Given the description of an element on the screen output the (x, y) to click on. 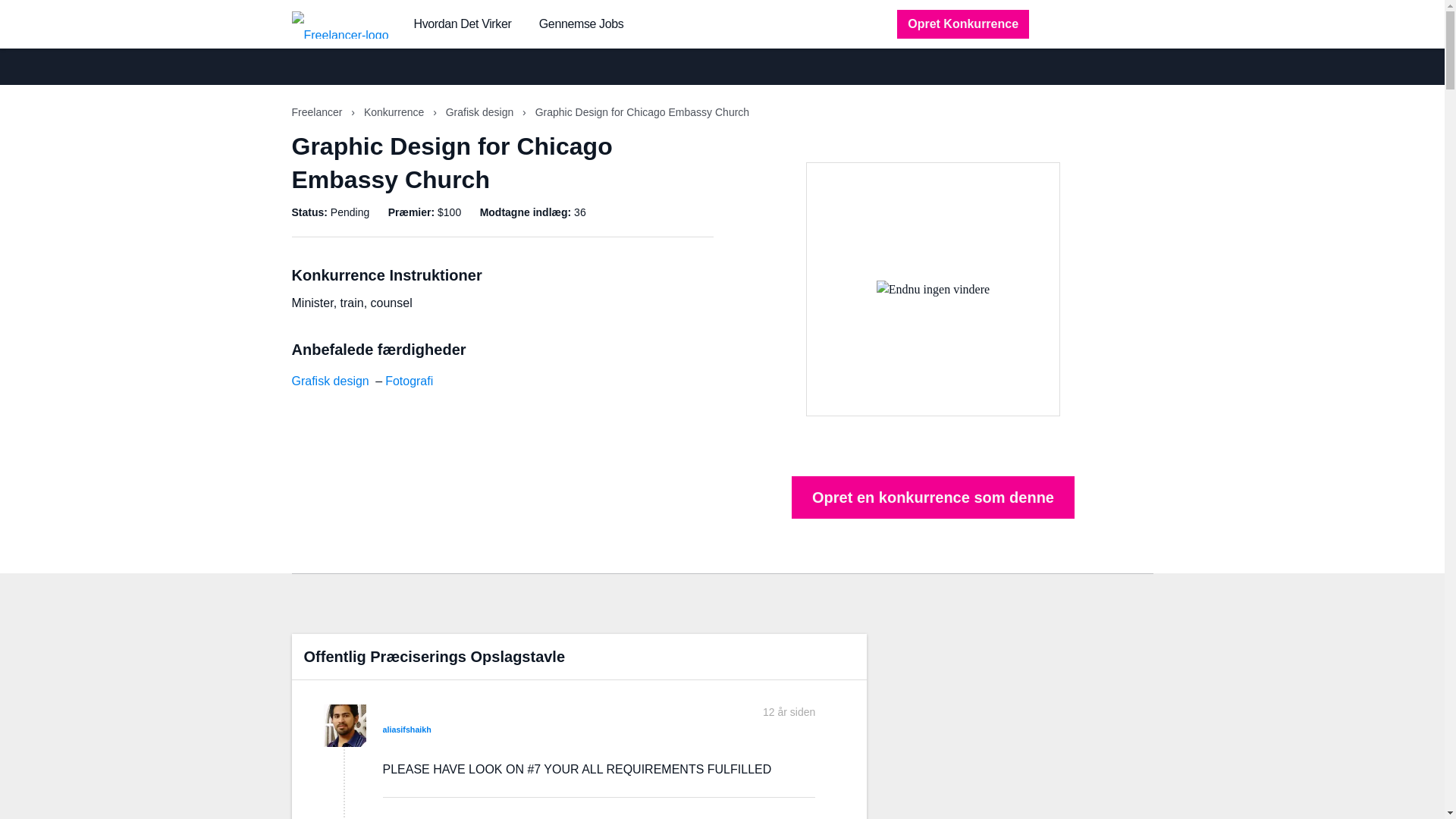
Konkurrence (395, 111)
Grafisk design (480, 111)
Opret Konkurrence (962, 23)
Opret en konkurrence som denne (933, 496)
Grafisk design (329, 380)
aliasifshaikh (405, 728)
Fotografi (408, 380)
Gennemse Jobs (581, 24)
Hvordan Det Virker (462, 24)
Freelancer (318, 111)
